Given the description of an element on the screen output the (x, y) to click on. 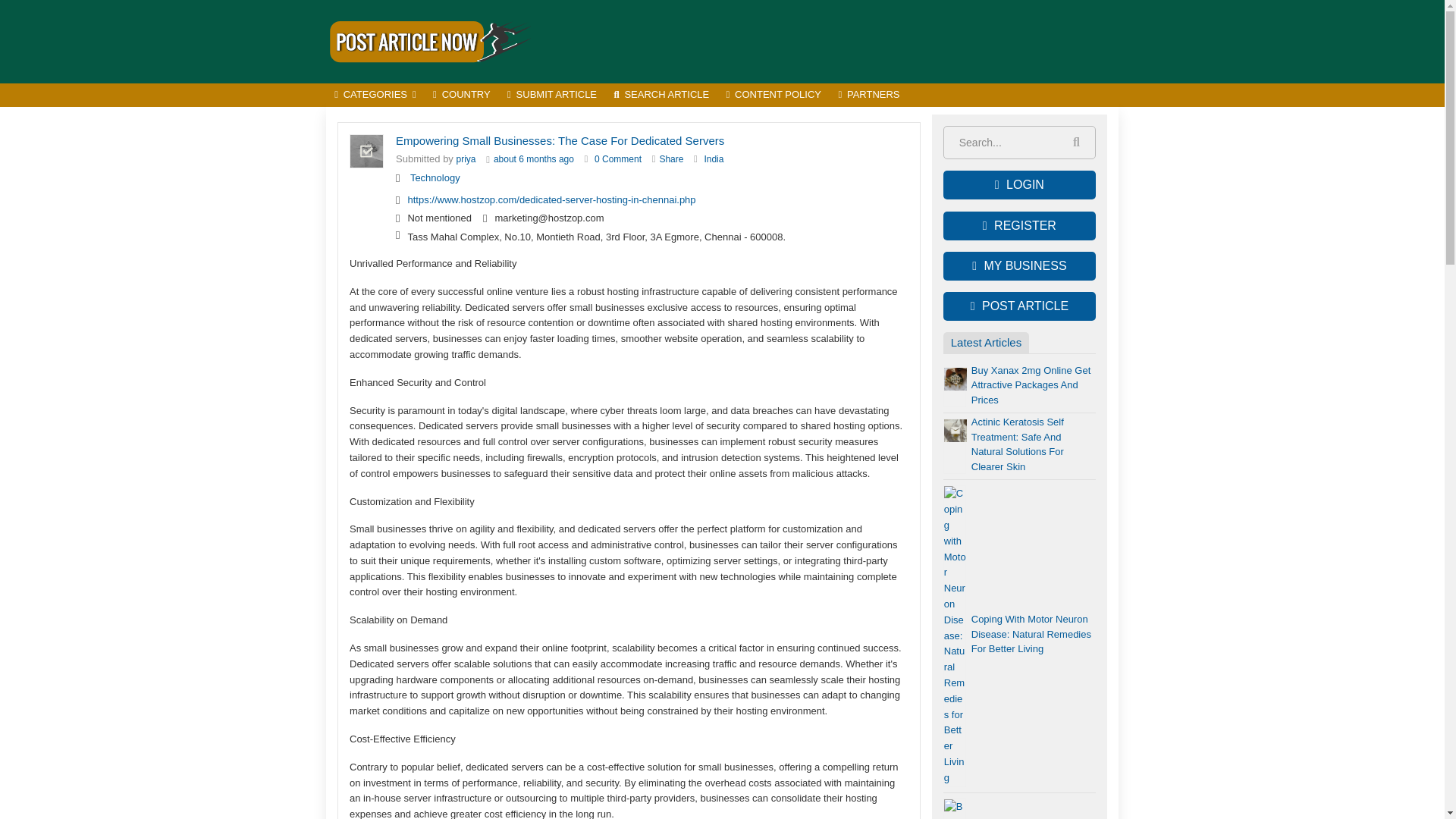
about 6 months ago (533, 158)
Technology (435, 177)
hostzop (466, 158)
CONTENT POLICY (773, 95)
CATEGORIES (375, 95)
about 6 months ago (533, 158)
MY BUSINESS (1019, 265)
Technology (435, 177)
REGISTER (1019, 225)
0 Comment (618, 158)
